Given the description of an element on the screen output the (x, y) to click on. 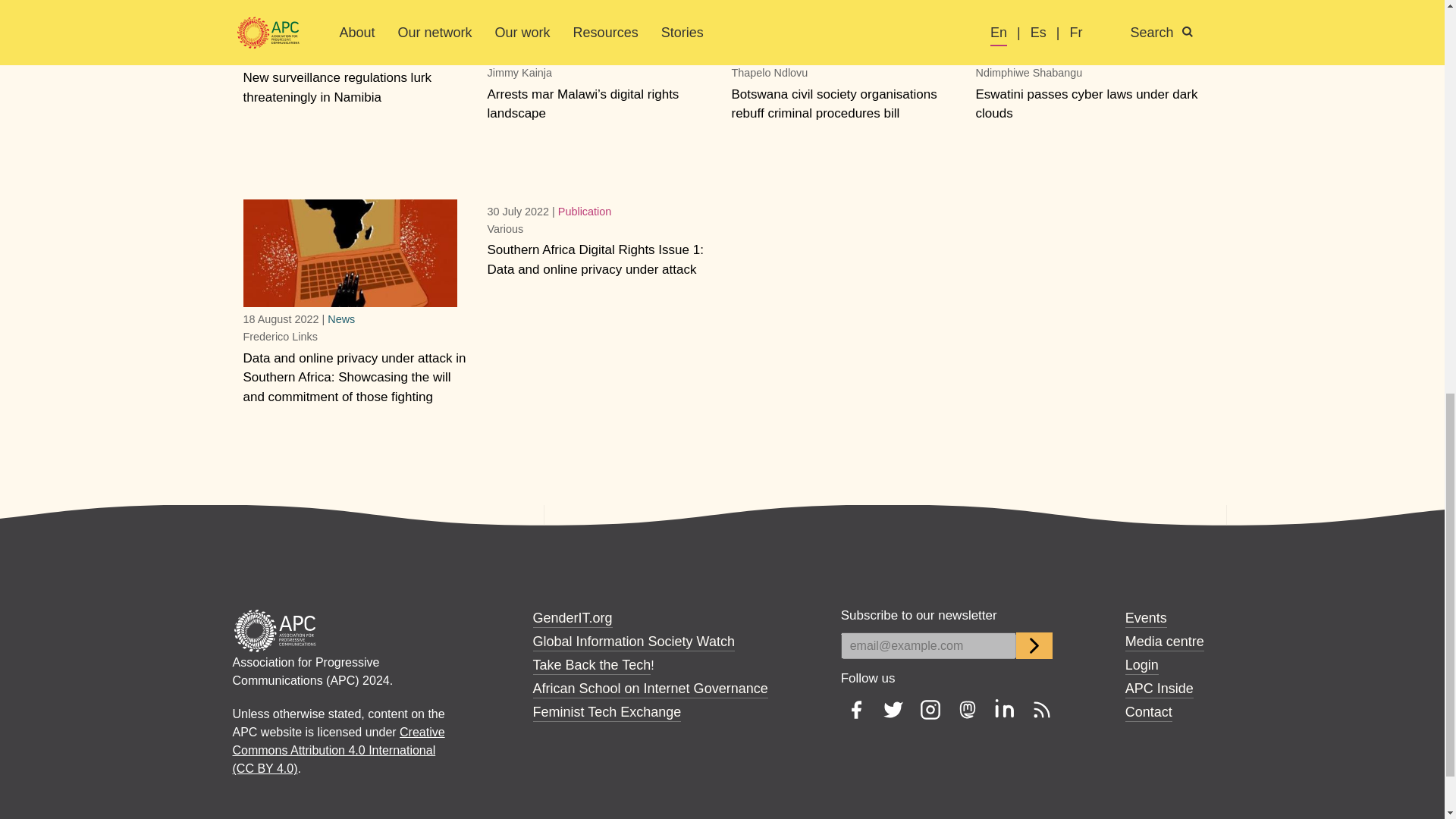
For site managers (1141, 665)
Facebook (855, 709)
Homepage (274, 629)
Mastodon (967, 709)
RSS (1041, 709)
Twitter (893, 709)
LinkedIn (1004, 709)
Instagram (930, 709)
Intranet for APC members associates and staff (1159, 688)
